Given the description of an element on the screen output the (x, y) to click on. 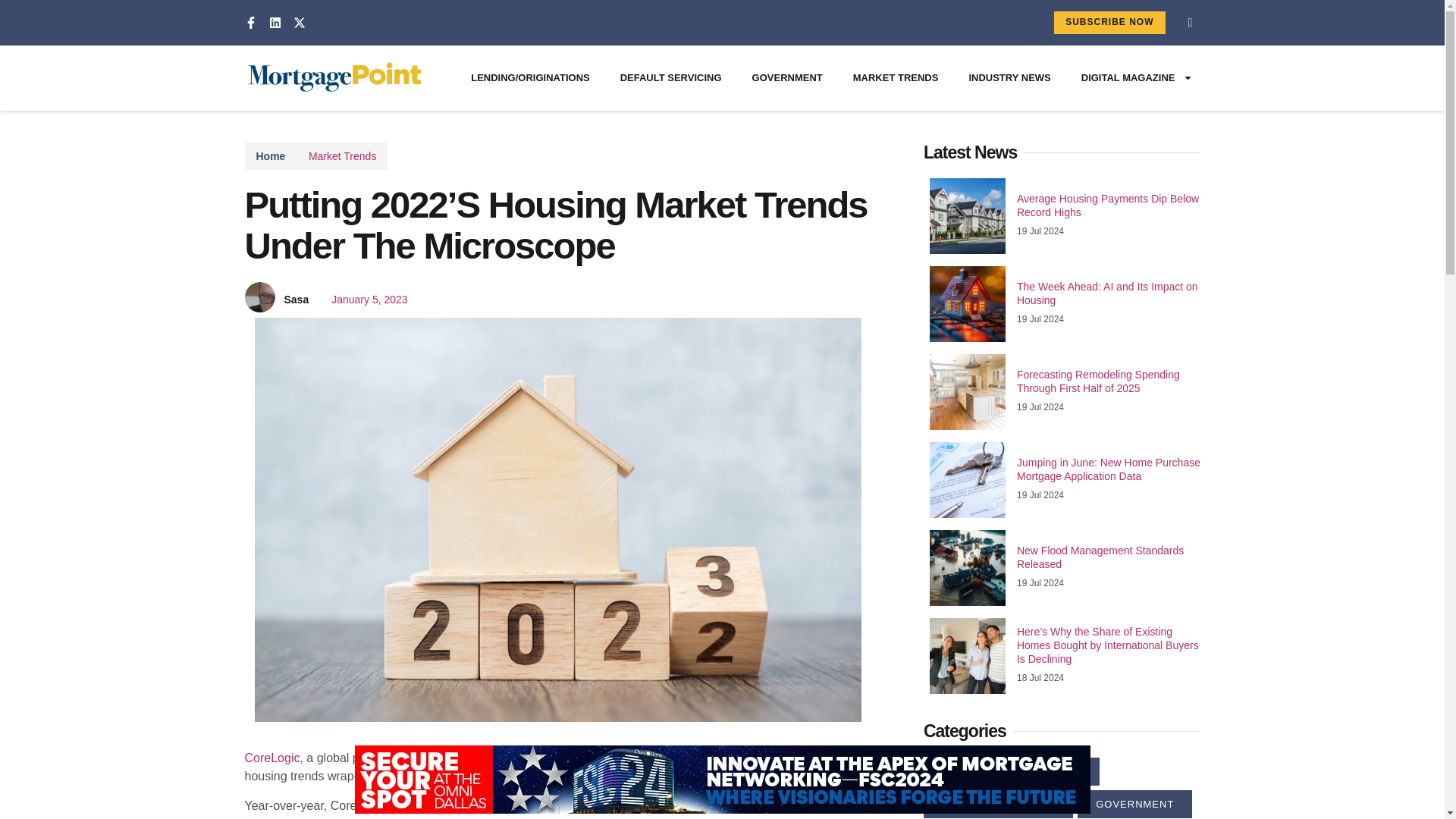
 - The MortgagePoint (968, 391)
January 5, 2023 (361, 299)
 - The MortgagePoint (968, 479)
DIGITAL MAGAZINE (1136, 77)
themp-logo - The MortgagePoint (333, 76)
Market Trends (341, 155)
SUBSCRIBE NOW (1109, 22)
CoreLogic (271, 757)
Home (270, 156)
Sasa (295, 299)
1610547228031 - The MortgagePoint (968, 655)
GOVERNMENT (787, 77)
DEFAULT SERVICING (670, 77)
MARKET TRENDS (895, 77)
